Given the description of an element on the screen output the (x, y) to click on. 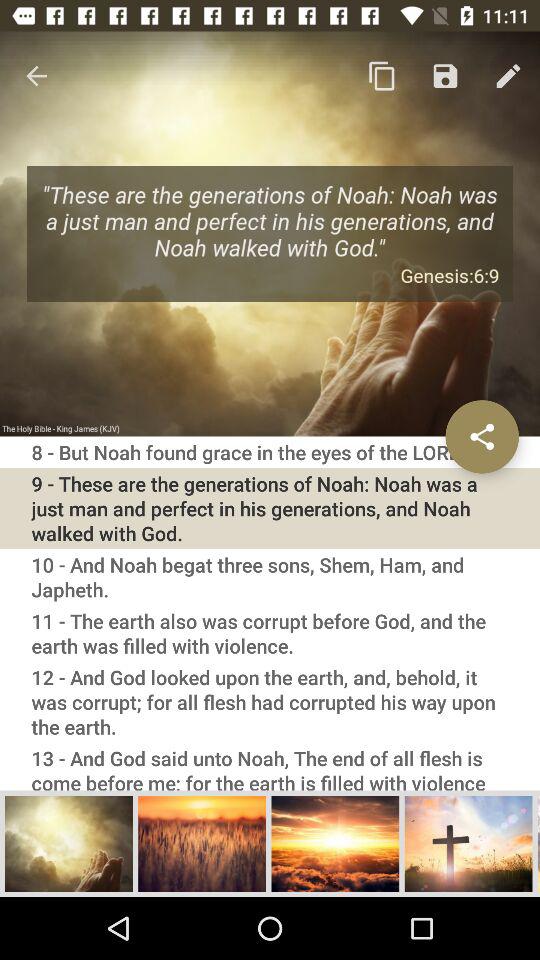
share the article (482, 436)
